Given the description of an element on the screen output the (x, y) to click on. 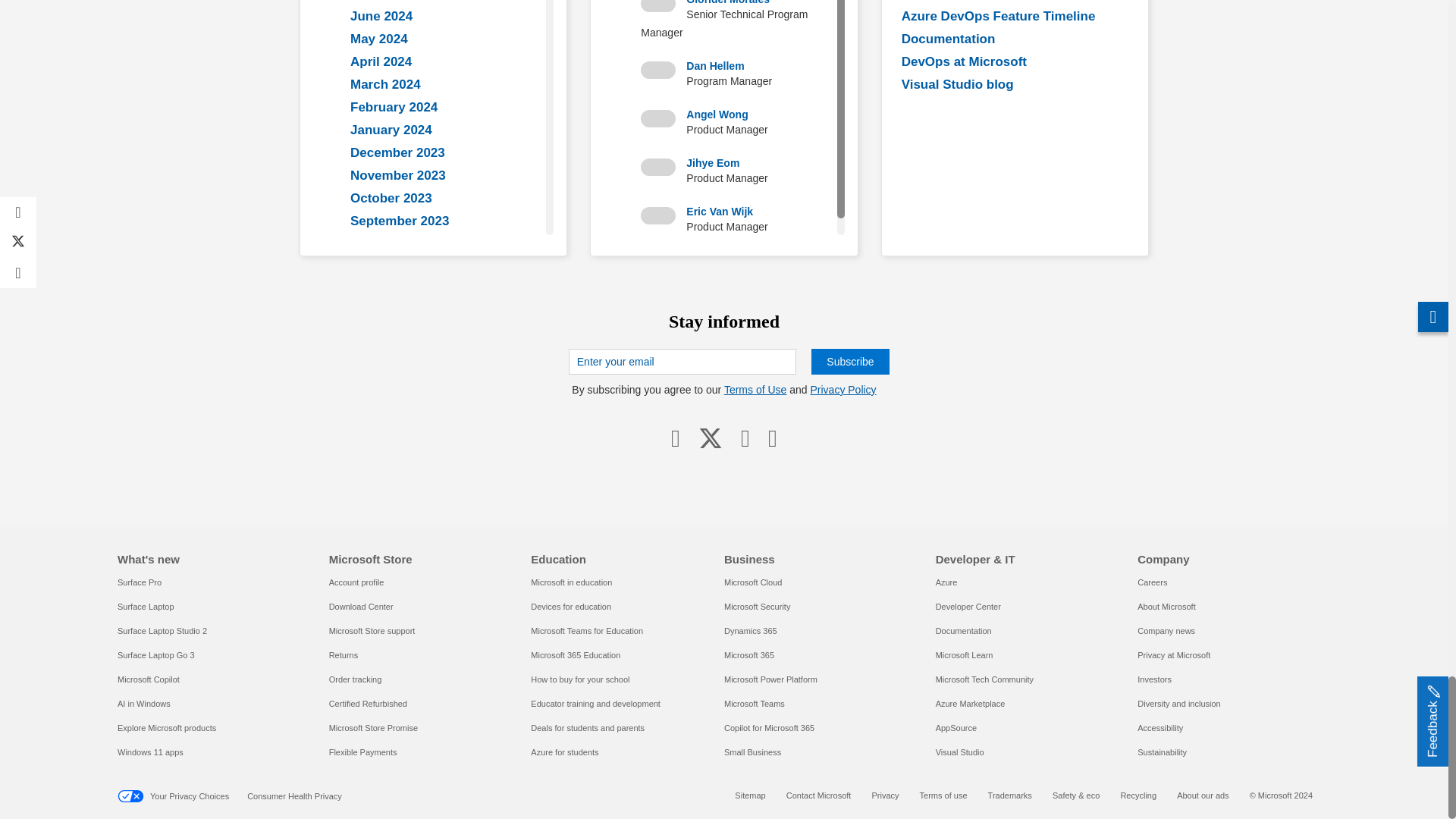
facebook (675, 436)
RSS Feed (772, 436)
youtube (745, 436)
twitter (710, 436)
Subscribe (849, 361)
